Given the description of an element on the screen output the (x, y) to click on. 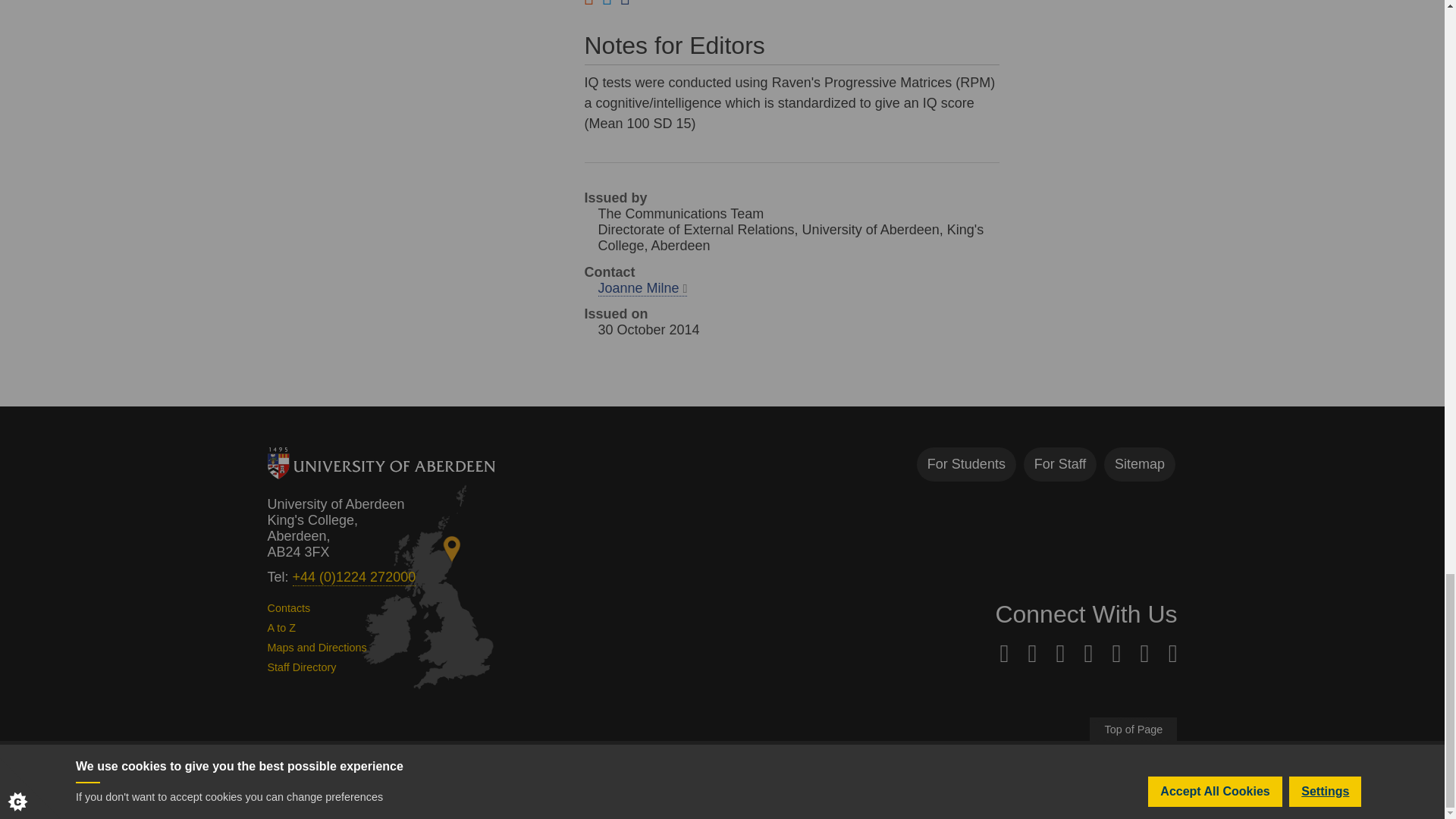
View the RSS feed (588, 4)
Share on Twitter (606, 4)
Share on Facebook (625, 4)
